Given the description of an element on the screen output the (x, y) to click on. 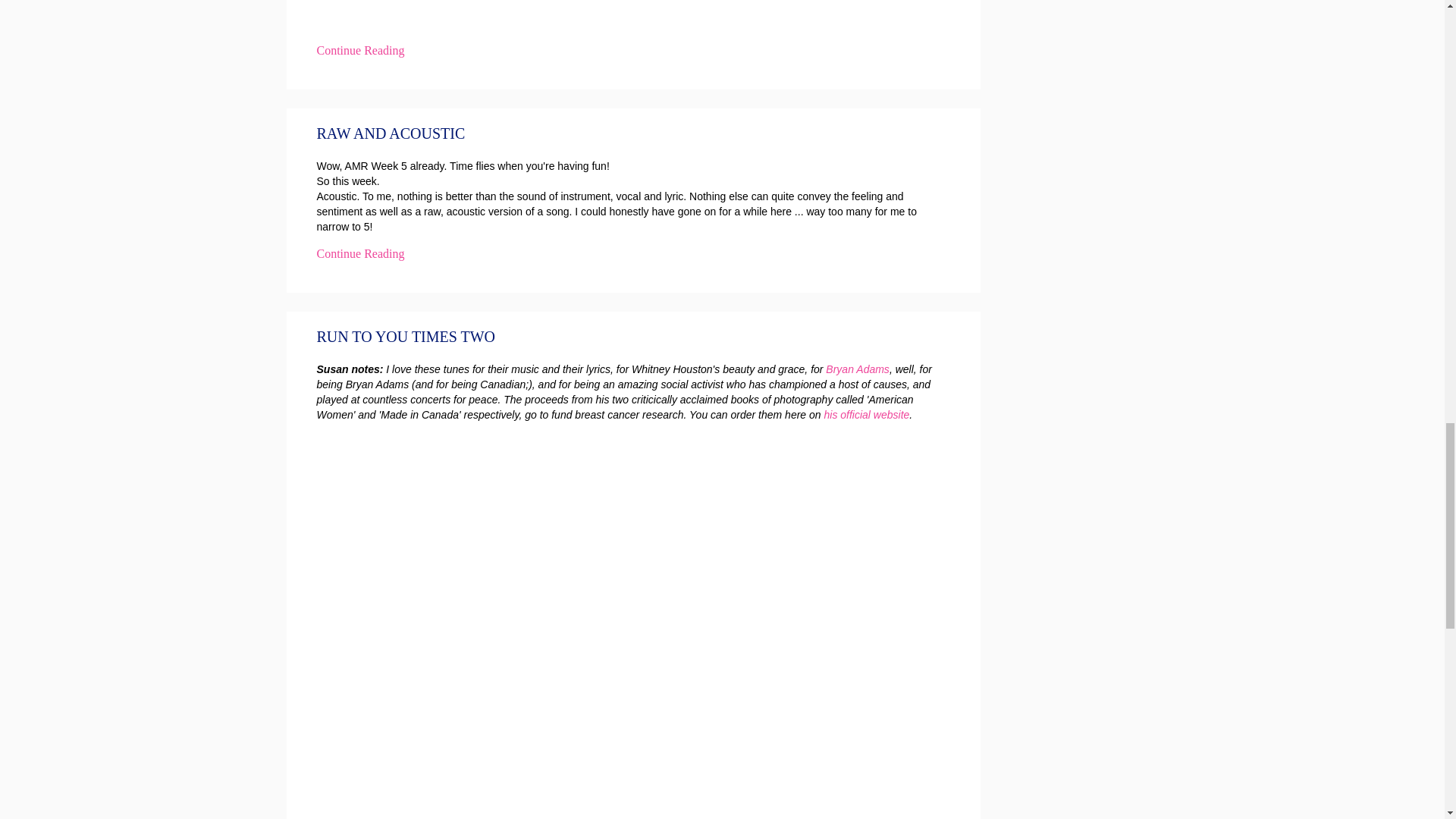
Run To You Times Two (406, 336)
Raw and Acoustic (391, 133)
RUN TO YOU TIMES TWO (406, 336)
Bryan Adams (857, 369)
RAW AND ACOUSTIC (391, 133)
Continue Reading (360, 253)
Continue Reading (360, 50)
his official website (866, 414)
